Given the description of an element on the screen output the (x, y) to click on. 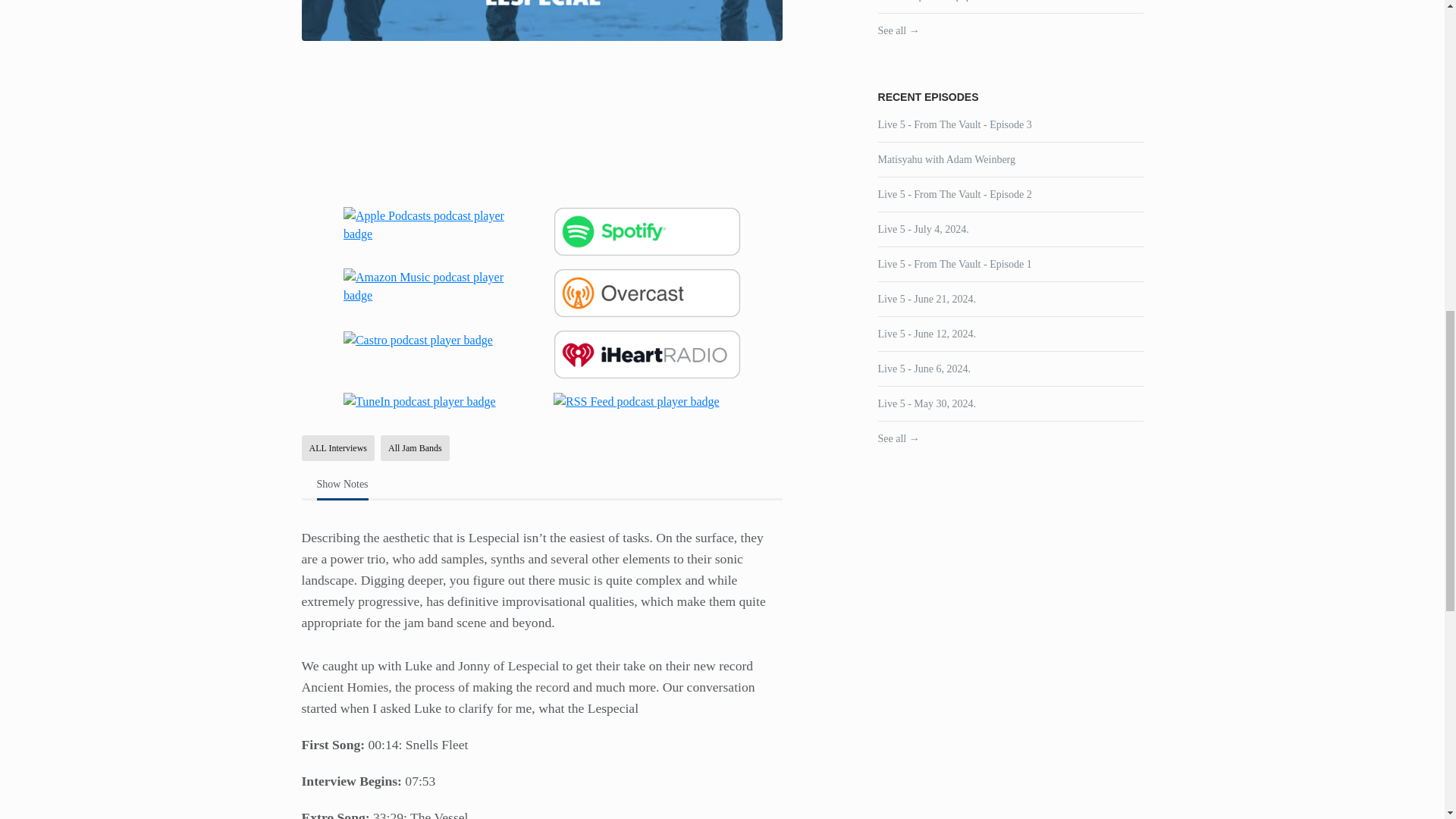
Lespecial (542, 20)
episode media player (542, 121)
